Given the description of an element on the screen output the (x, y) to click on. 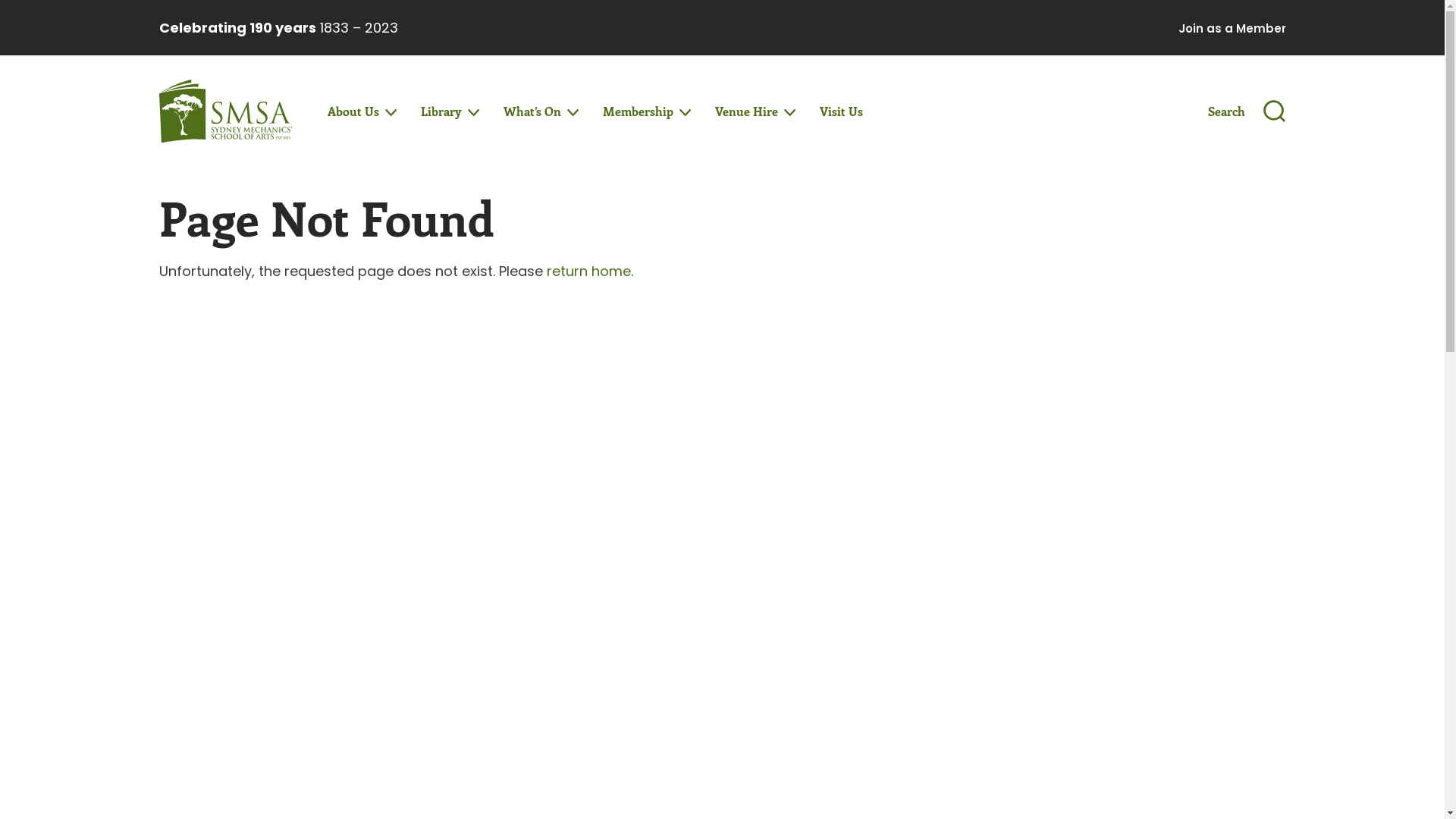
Visit Us Element type: text (841, 111)
return home Element type: text (588, 270)
Join as a Member Element type: text (1232, 28)
About Us Element type: text (358, 111)
Venue Hire Element type: text (752, 111)
Library Element type: text (447, 111)
Search Element type: text (1246, 111)
Membership Element type: text (644, 111)
